Given the description of an element on the screen output the (x, y) to click on. 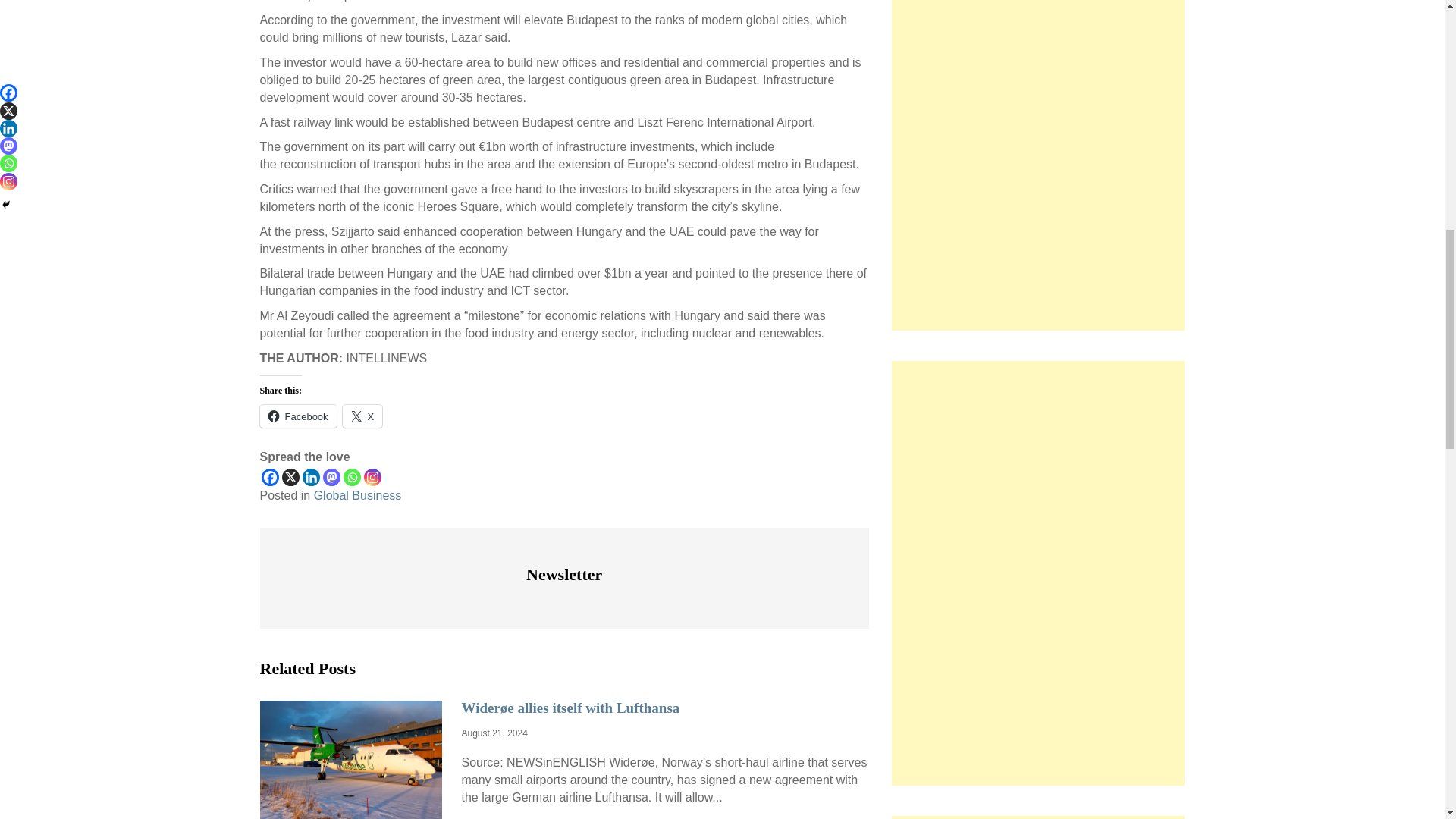
Click to share on Facebook (297, 415)
Whatsapp (350, 477)
Mastodon (331, 477)
X (290, 477)
Facebook (269, 477)
Click to share on X (362, 415)
Linkedin (309, 477)
Instagram (372, 477)
